Given the description of an element on the screen output the (x, y) to click on. 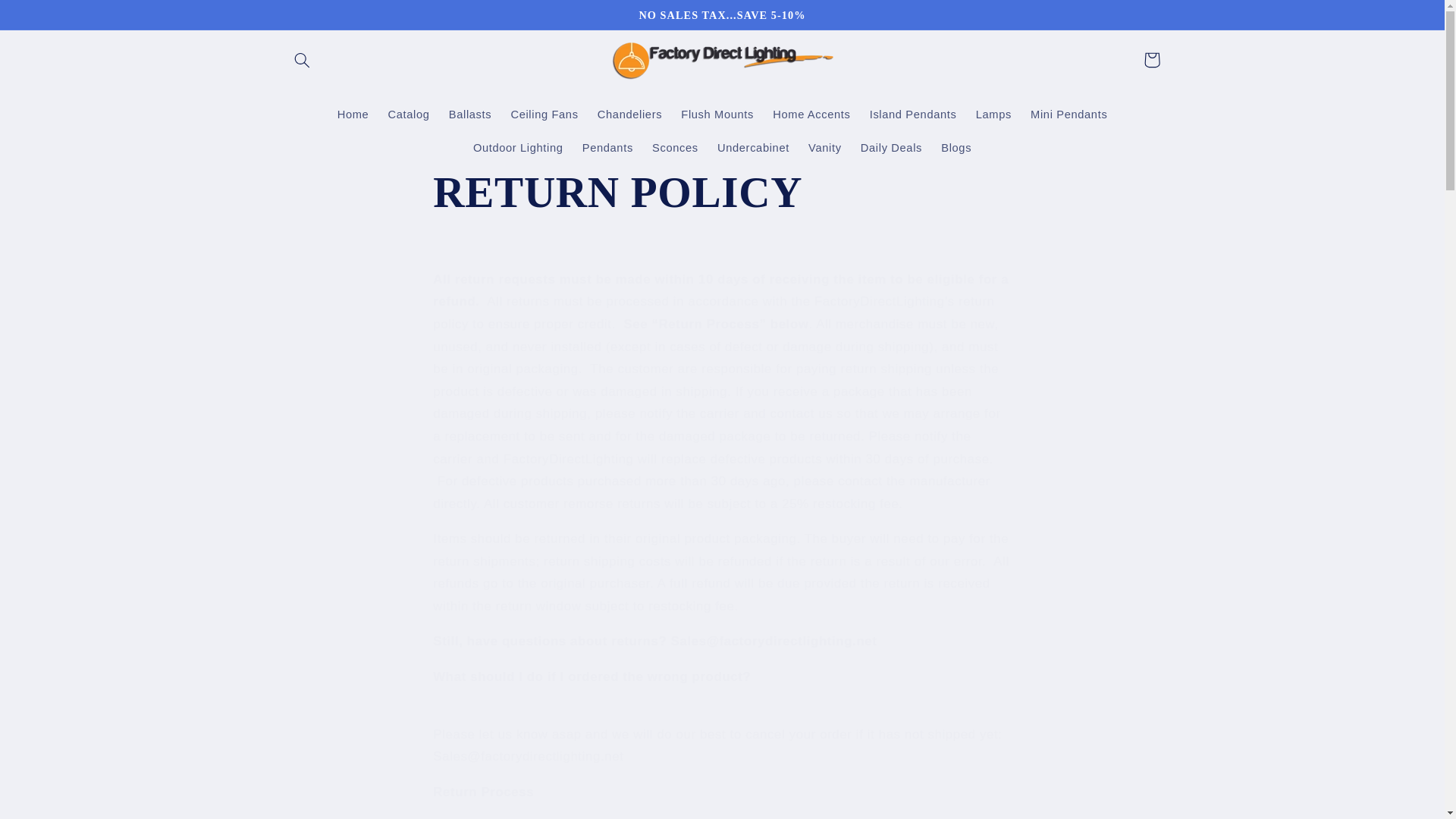
Lamps (993, 114)
Chandeliers (629, 114)
Home (352, 114)
Home Accents (811, 114)
RETURN POLICY (721, 192)
Catalog (408, 114)
Mini Pendants (1068, 114)
Skip to content (48, 18)
Ceiling Fans (544, 114)
Outdoor Lighting (517, 147)
